Given the description of an element on the screen output the (x, y) to click on. 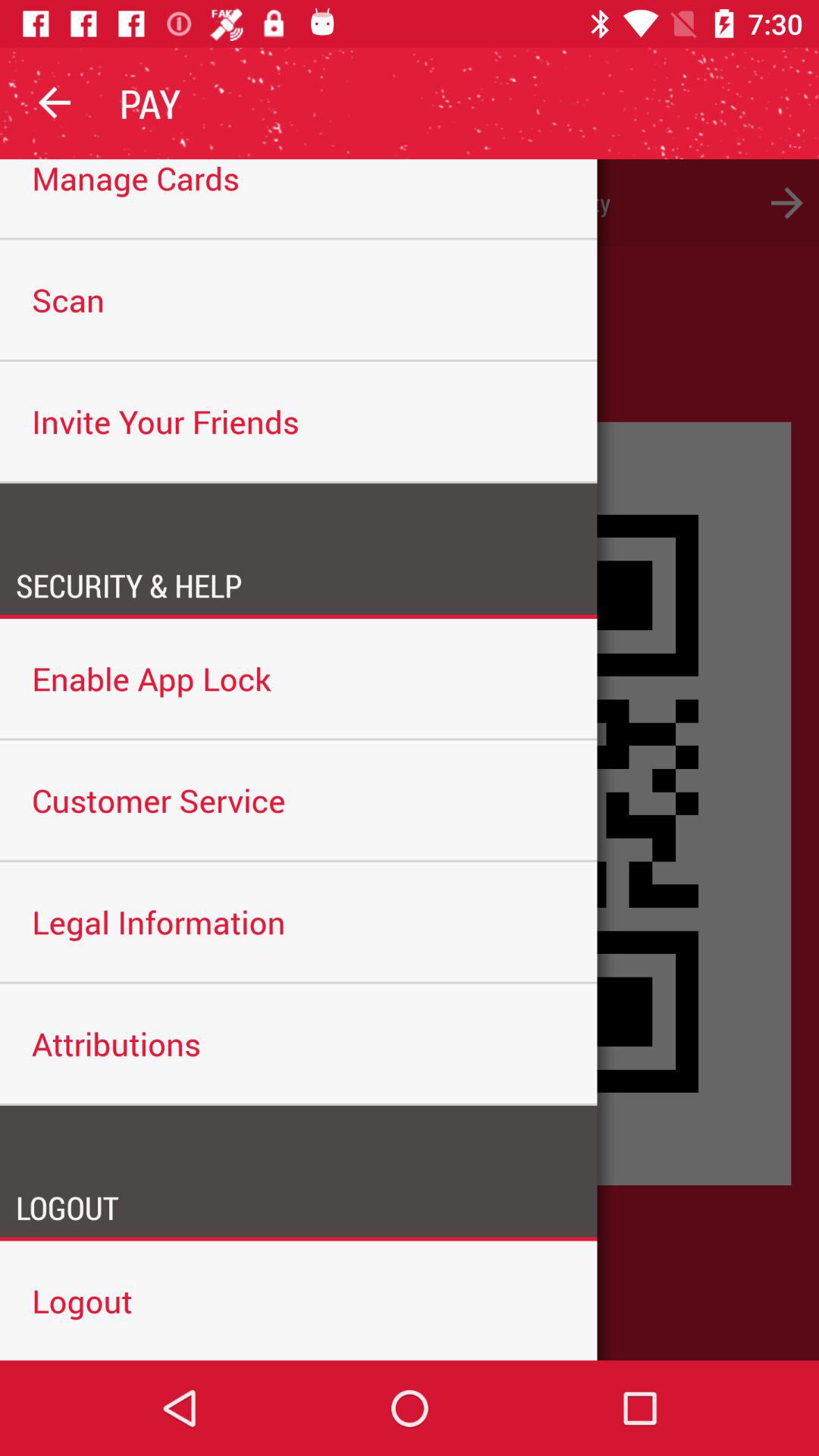
click item to the left of pay item (55, 103)
